Given the description of an element on the screen output the (x, y) to click on. 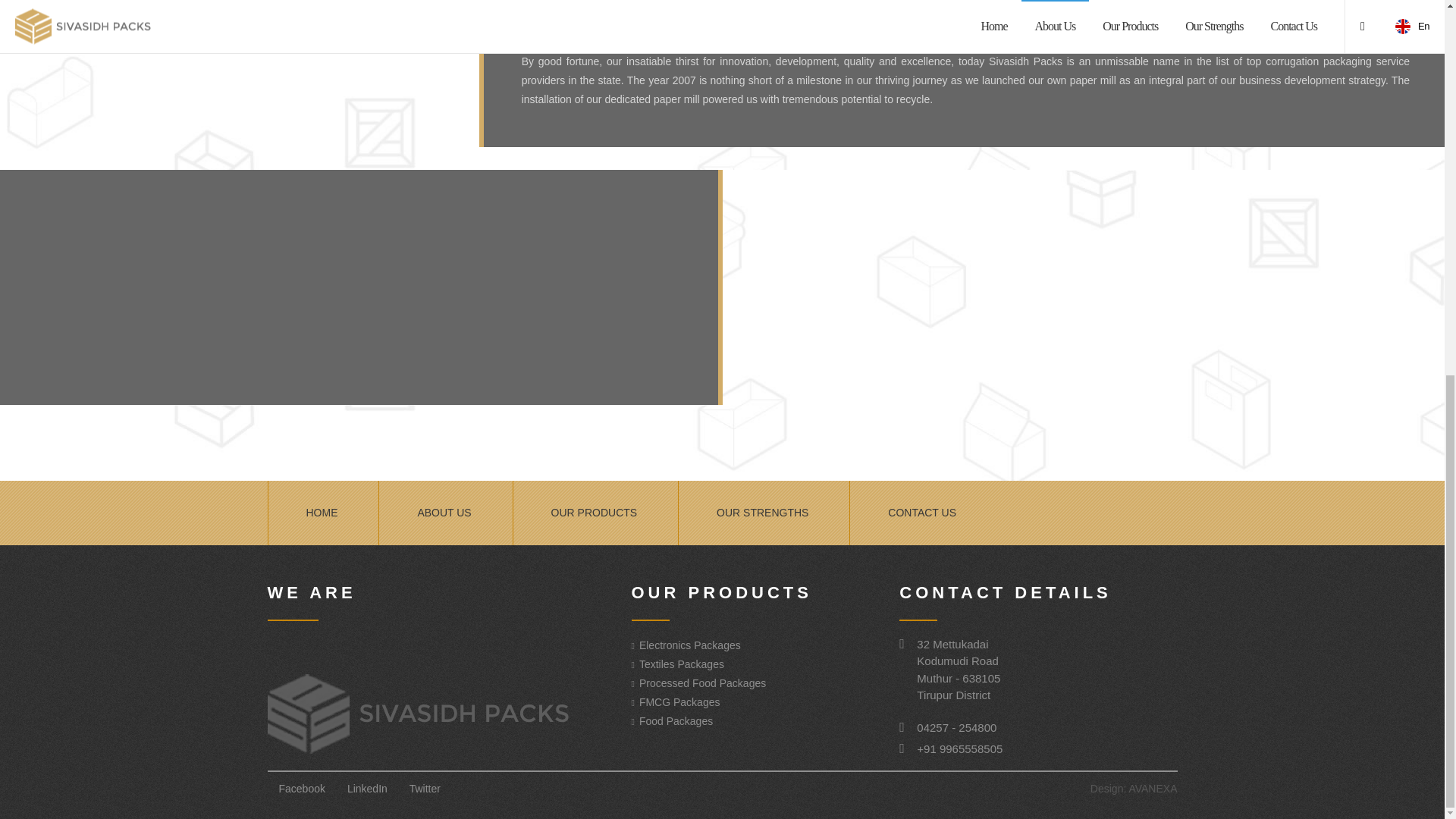
OUR STRENGTHS (762, 512)
Processed Food Packages (702, 683)
Textiles Packages (681, 664)
HOME (321, 512)
Electronics Packages (690, 645)
ABOUT US (443, 512)
CONTACT US (922, 512)
OUR PRODUCTS (594, 512)
